Given the description of an element on the screen output the (x, y) to click on. 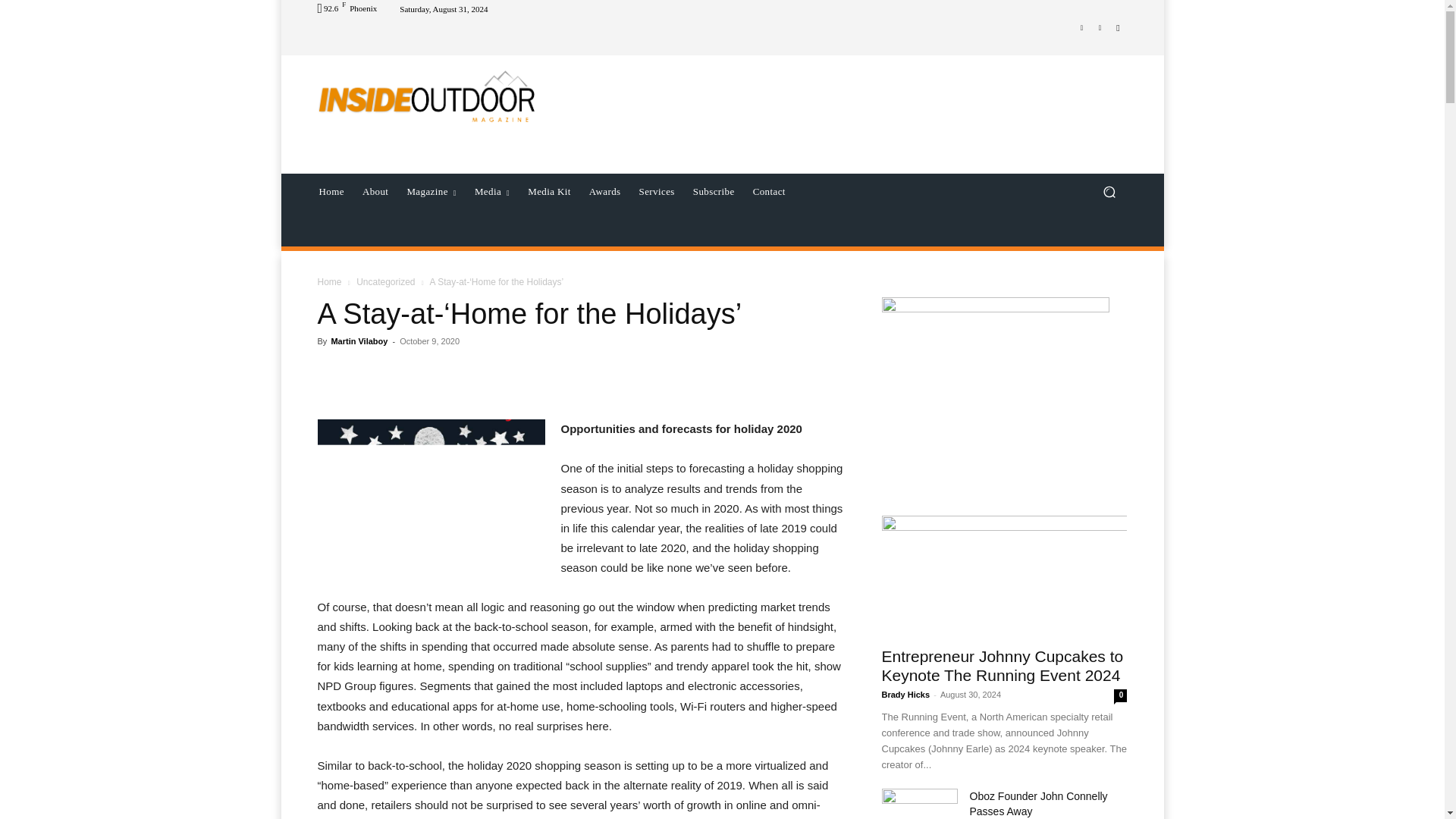
About (375, 191)
Home (330, 191)
Twitter (1099, 27)
Magazine (431, 191)
Youtube (1117, 27)
View all posts in Uncategorized (385, 281)
Media (491, 191)
Linkedin (1080, 27)
